Given the description of an element on the screen output the (x, y) to click on. 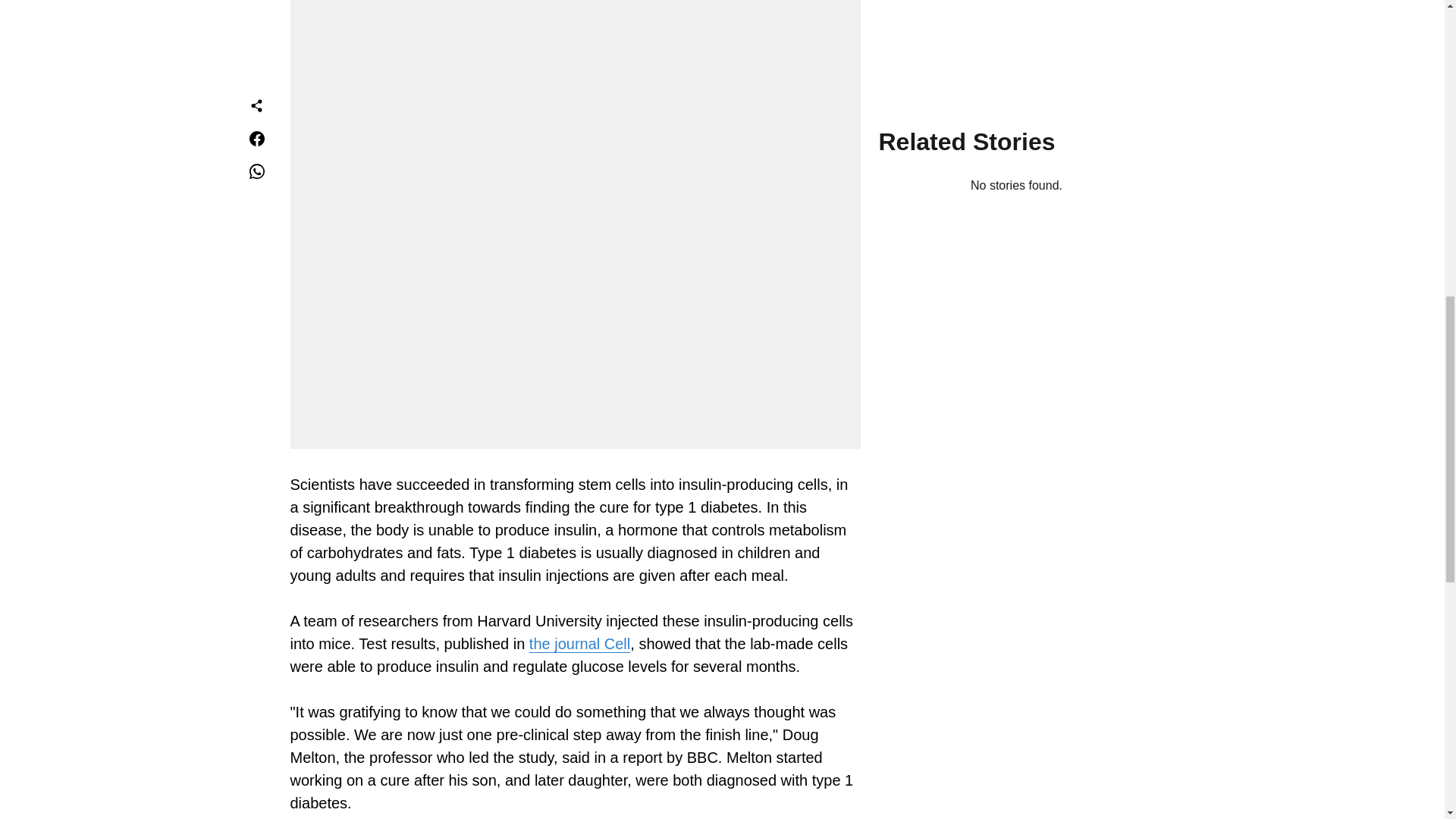
the journal Cell (579, 643)
